Given the description of an element on the screen output the (x, y) to click on. 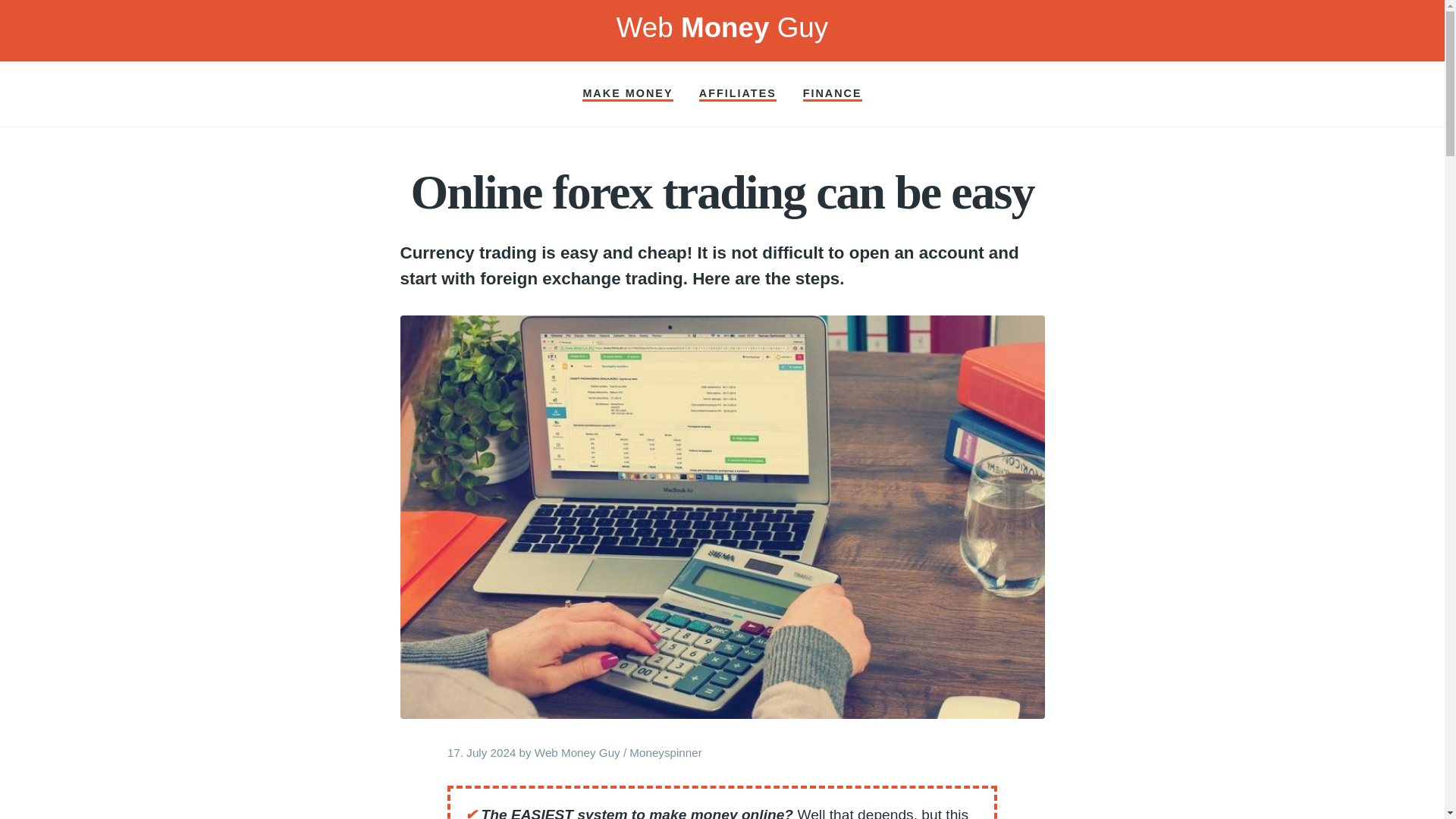
FINANCE (832, 93)
MAKE MONEY (627, 93)
Web Money Guy (577, 752)
Web Money Guy (721, 27)
Moneyspinner (664, 752)
AFFILIATES (737, 93)
